Given the description of an element on the screen output the (x, y) to click on. 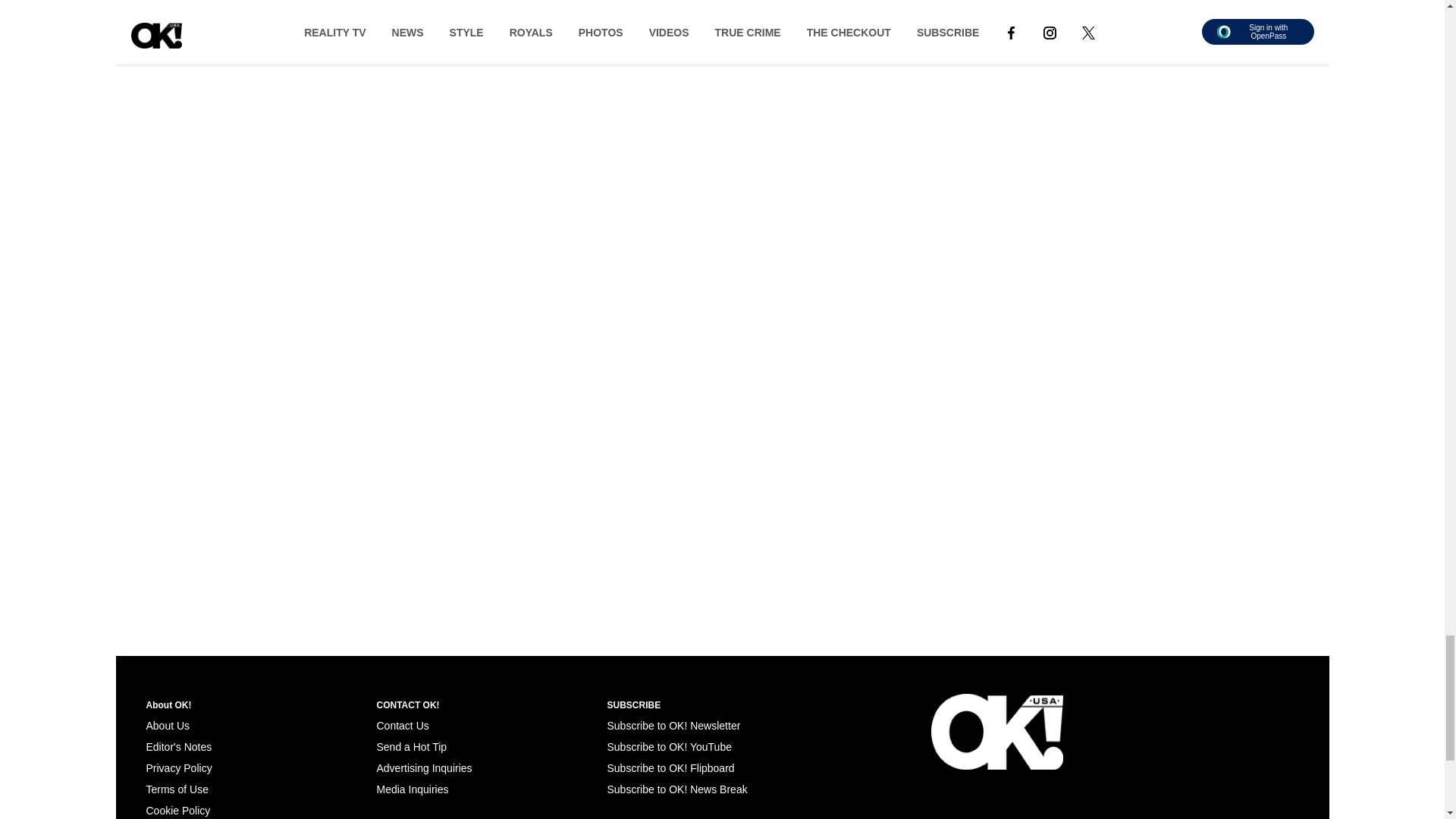
Terms of Use (176, 788)
Editor's Notes (178, 746)
About Us (167, 725)
Privacy Policy (178, 767)
Cookie Policy (177, 810)
